Given the description of an element on the screen output the (x, y) to click on. 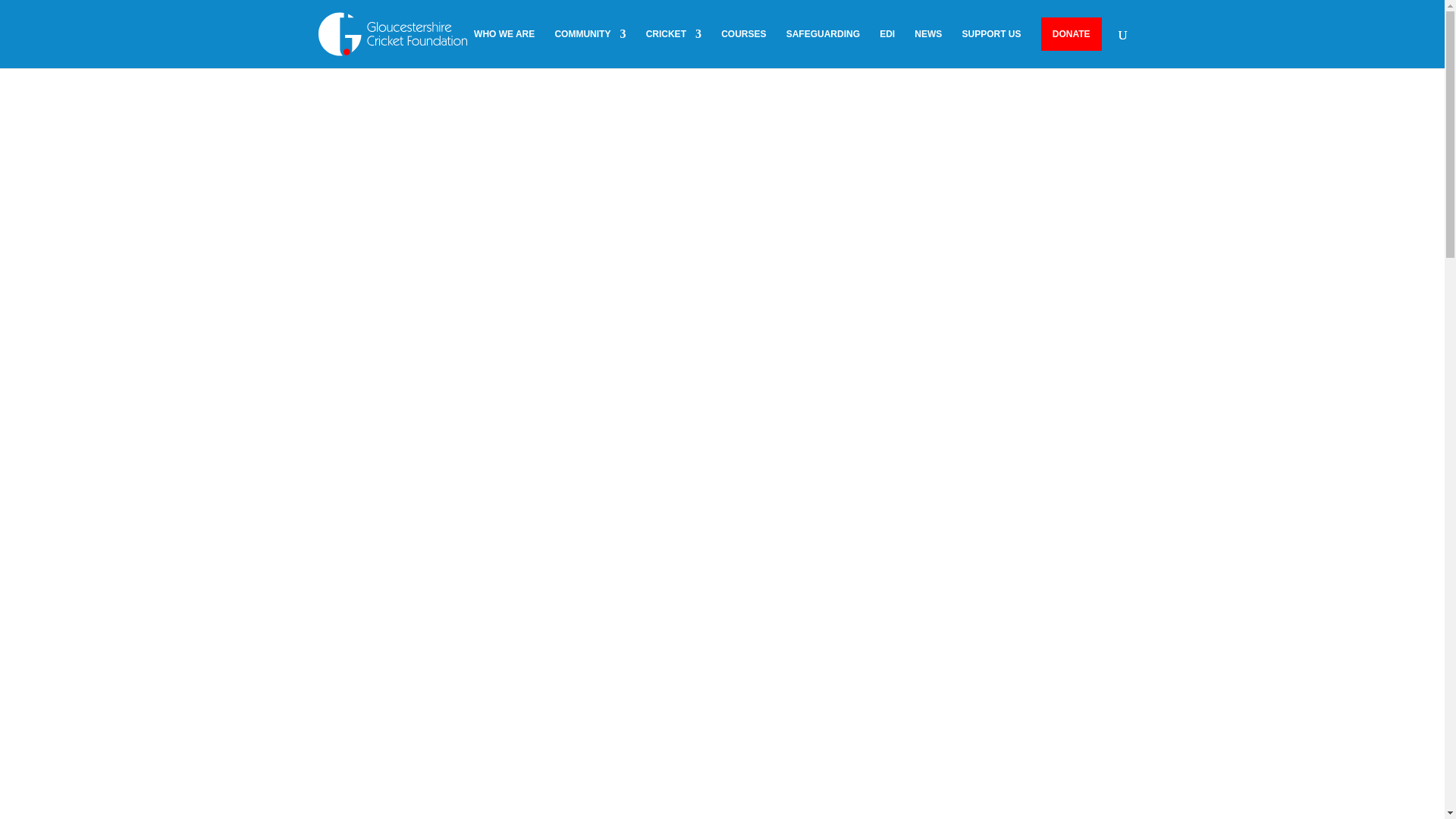
WHO WE ARE (504, 47)
COMMUNITY (590, 47)
CRICKET (673, 47)
